Given the description of an element on the screen output the (x, y) to click on. 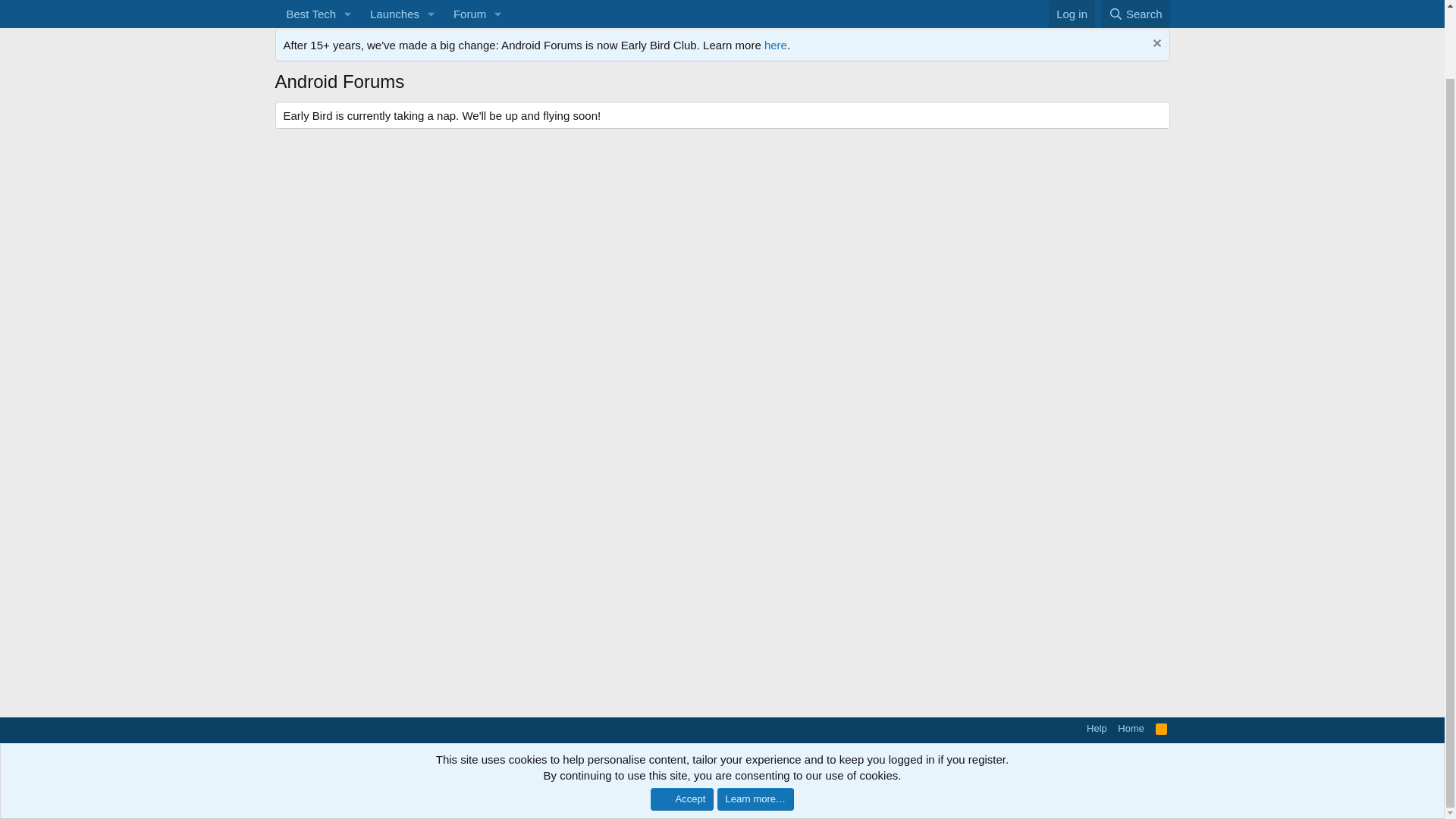
RSS (1161, 728)
RSS (1161, 728)
Accept (681, 722)
Home (1131, 728)
Help (1096, 728)
Forum list (366, 10)
here (720, 27)
What's New? (391, 15)
